Given the description of an element on the screen output the (x, y) to click on. 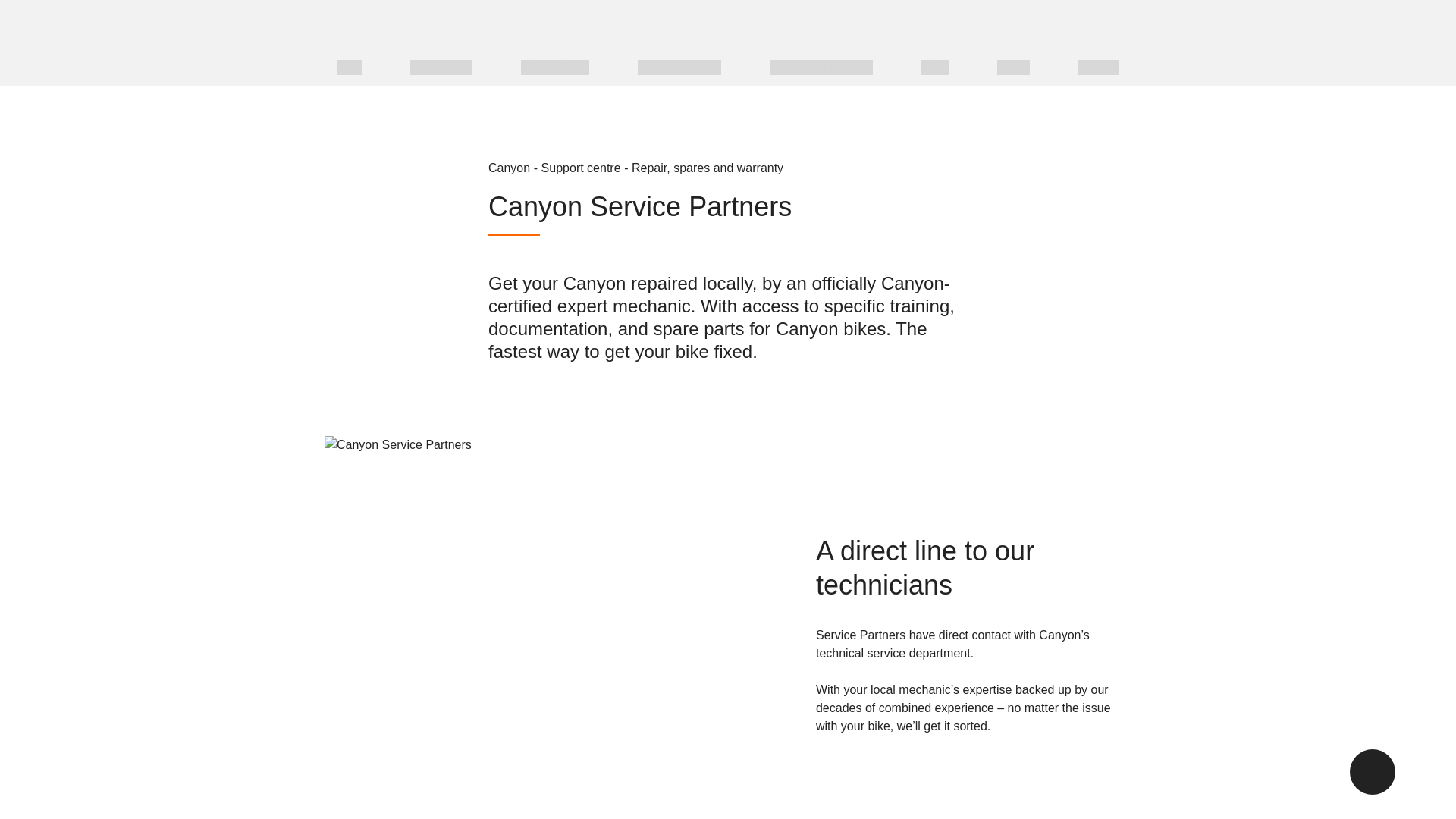
Gravel Bikes (555, 67)
Road Bikes (440, 67)
Sale (349, 67)
Canyon (297, 23)
Reasons to Choose Canyon (714, 67)
